Given the description of an element on the screen output the (x, y) to click on. 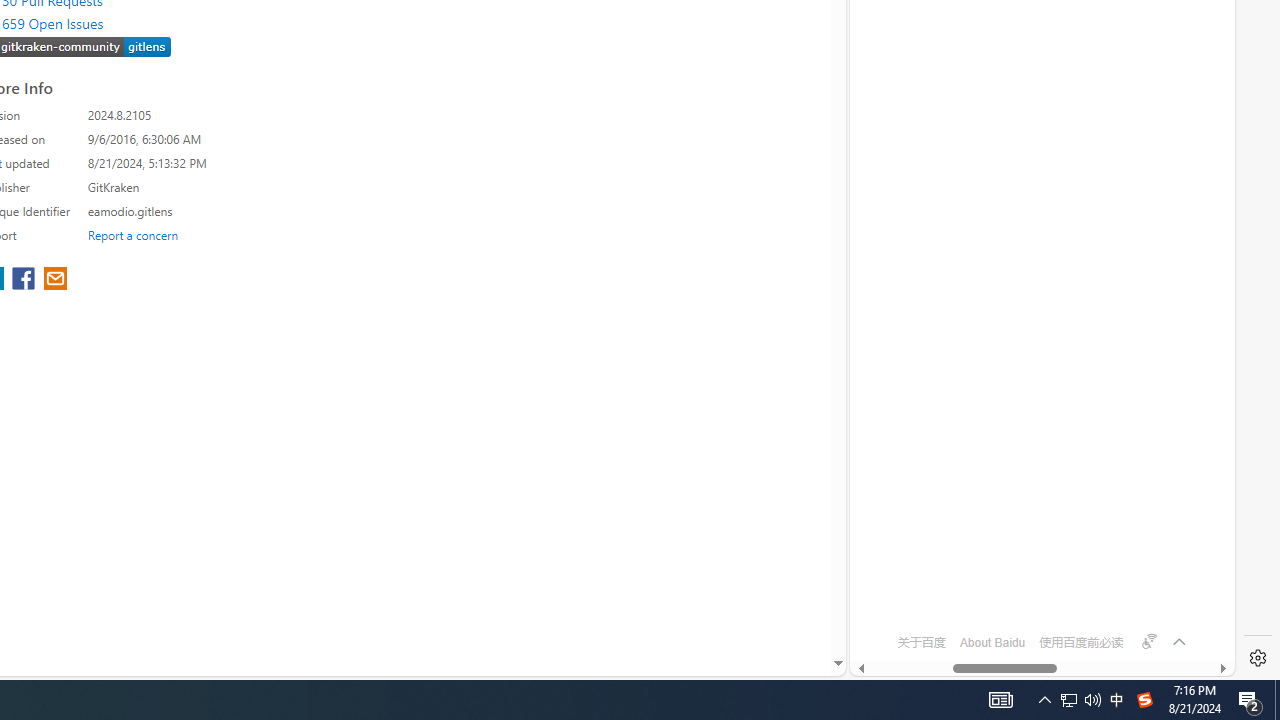
OFTV (1034, 587)
share extension on email (54, 280)
